Given the description of an element on the screen output the (x, y) to click on. 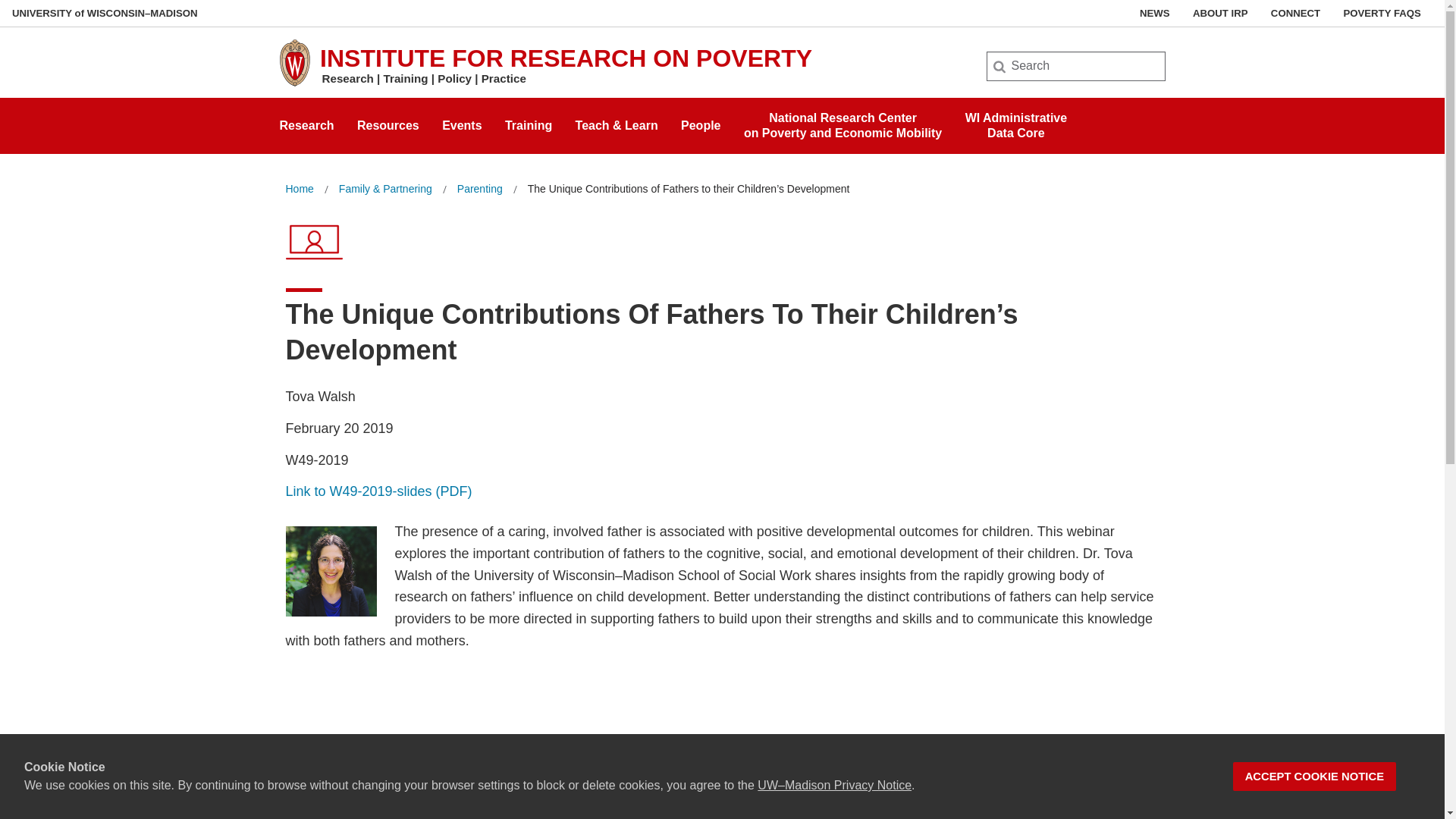
Search (37, 16)
Events (461, 120)
ABOUT IRP (1219, 13)
Parenting (479, 188)
People (700, 120)
Parenting (479, 188)
INSTITUTE FOR RESEARCH ON POVERTY (566, 58)
Training (528, 120)
Research (306, 120)
NEWS (1155, 13)
POVERTY FAQS (1381, 13)
ACCEPT COOKIE NOTICE (1314, 776)
Skip to main content (3, 3)
Resources (843, 120)
